Given the description of an element on the screen output the (x, y) to click on. 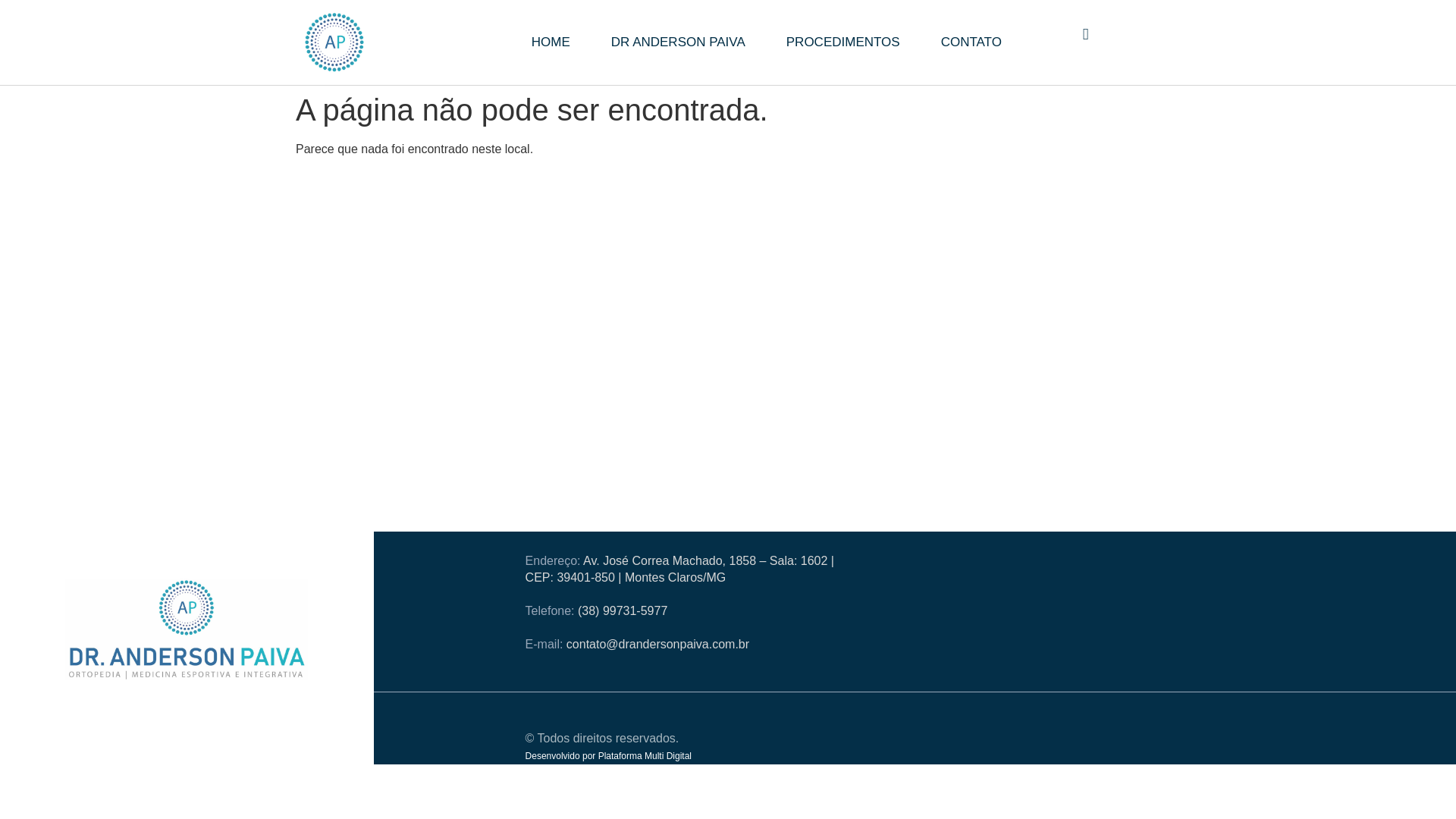
PROCEDIMENTOS (842, 42)
HOME (551, 42)
Desenvolvido por Plataforma Multi Digital (608, 756)
DR ANDERSON PAIVA (678, 42)
CONTATO (971, 42)
